Given the description of an element on the screen output the (x, y) to click on. 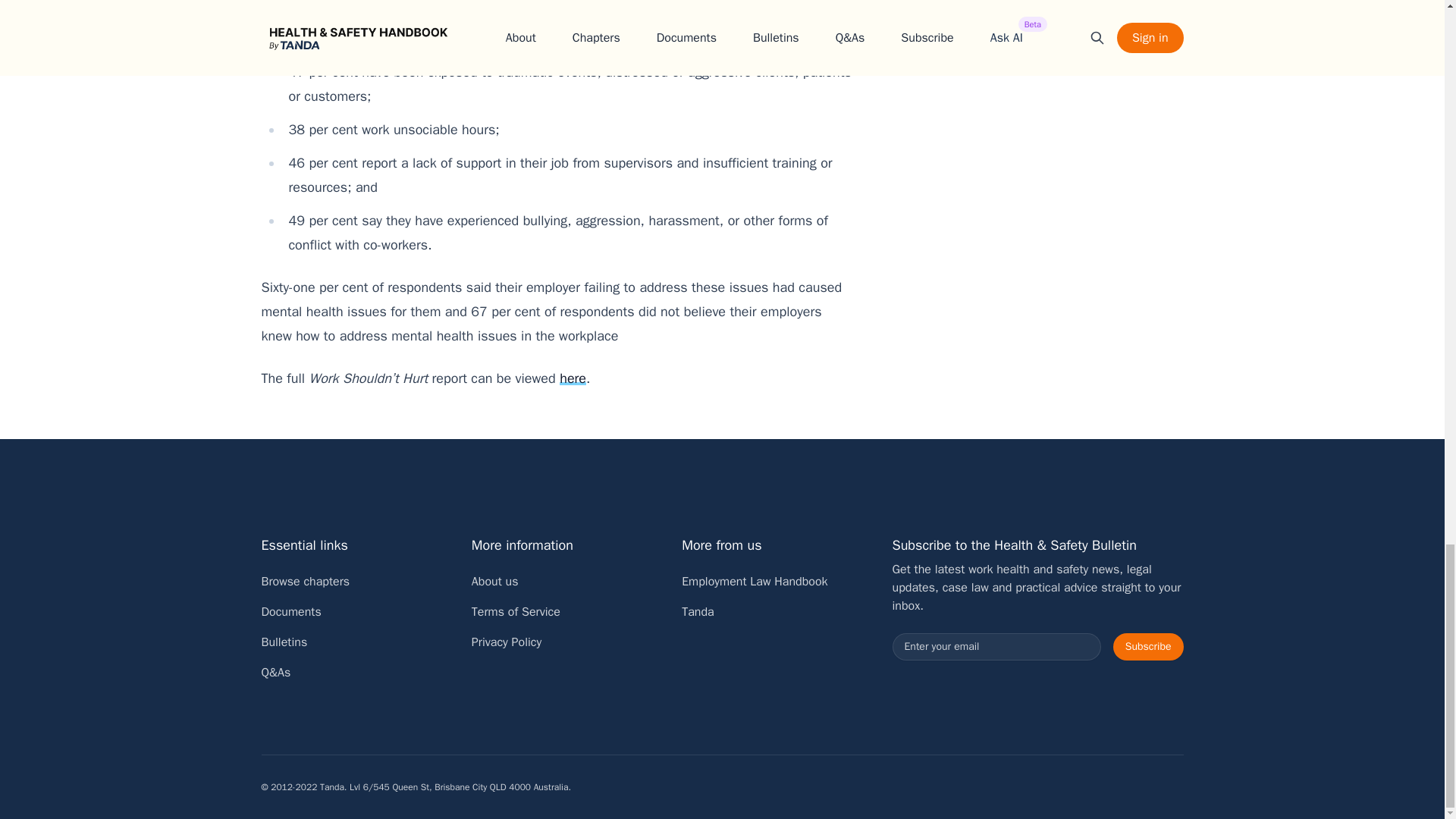
About us (494, 581)
Terms of Service (515, 611)
Browse chapters (304, 581)
Tanda (697, 611)
Employment Law Handbook (754, 581)
Subscribe (1148, 646)
Documents (290, 611)
here (572, 378)
Bulletins (283, 642)
Privacy Policy (506, 642)
